Given the description of an element on the screen output the (x, y) to click on. 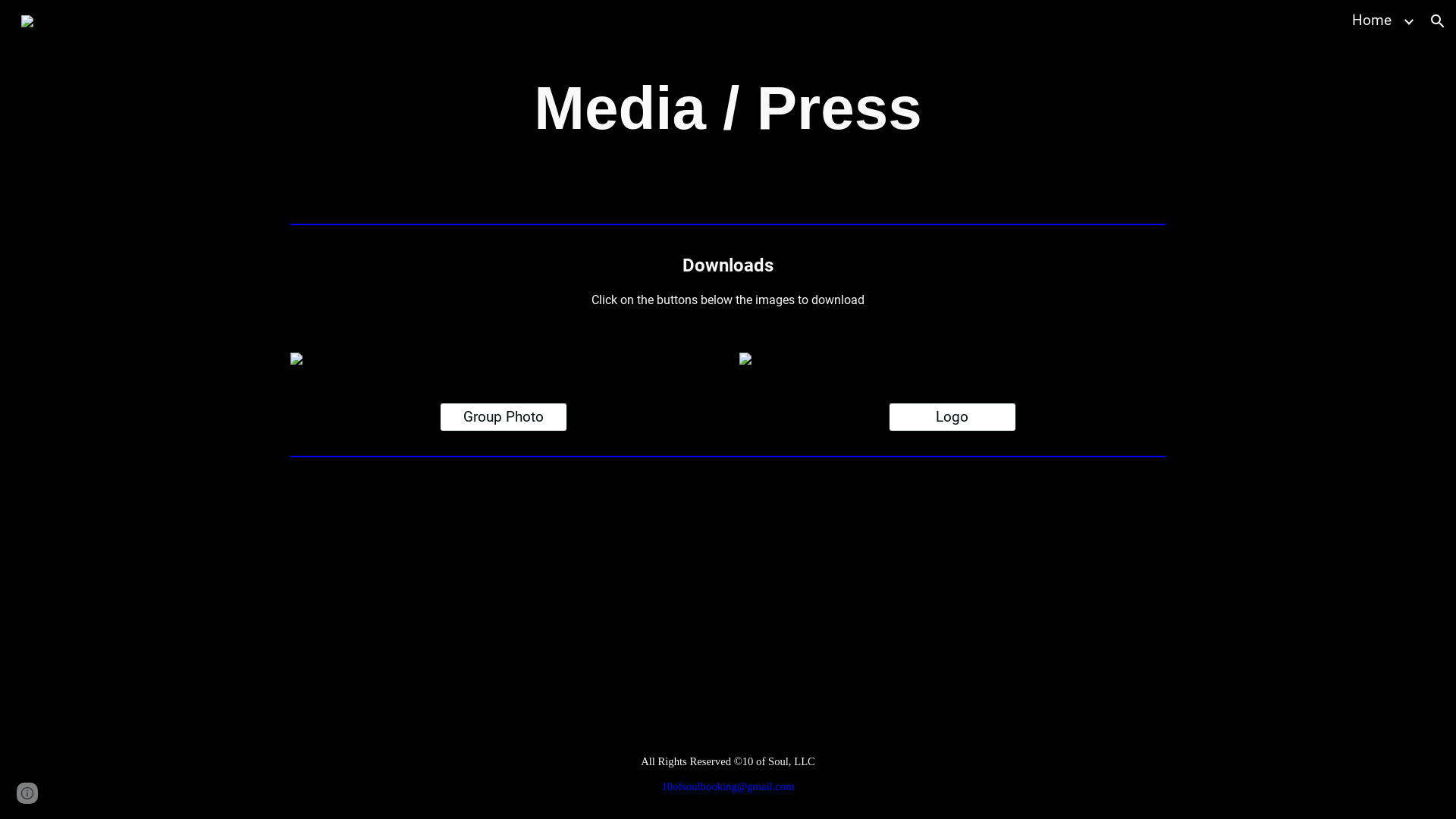
Group Photo Element type: text (503, 416)
Logo Element type: text (952, 416)
10ofsoulbooking@gmail.com Element type: text (727, 787)
Home Element type: text (1371, 20)
Expand/Collapse Element type: hover (1408, 20)
